Given the description of an element on the screen output the (x, y) to click on. 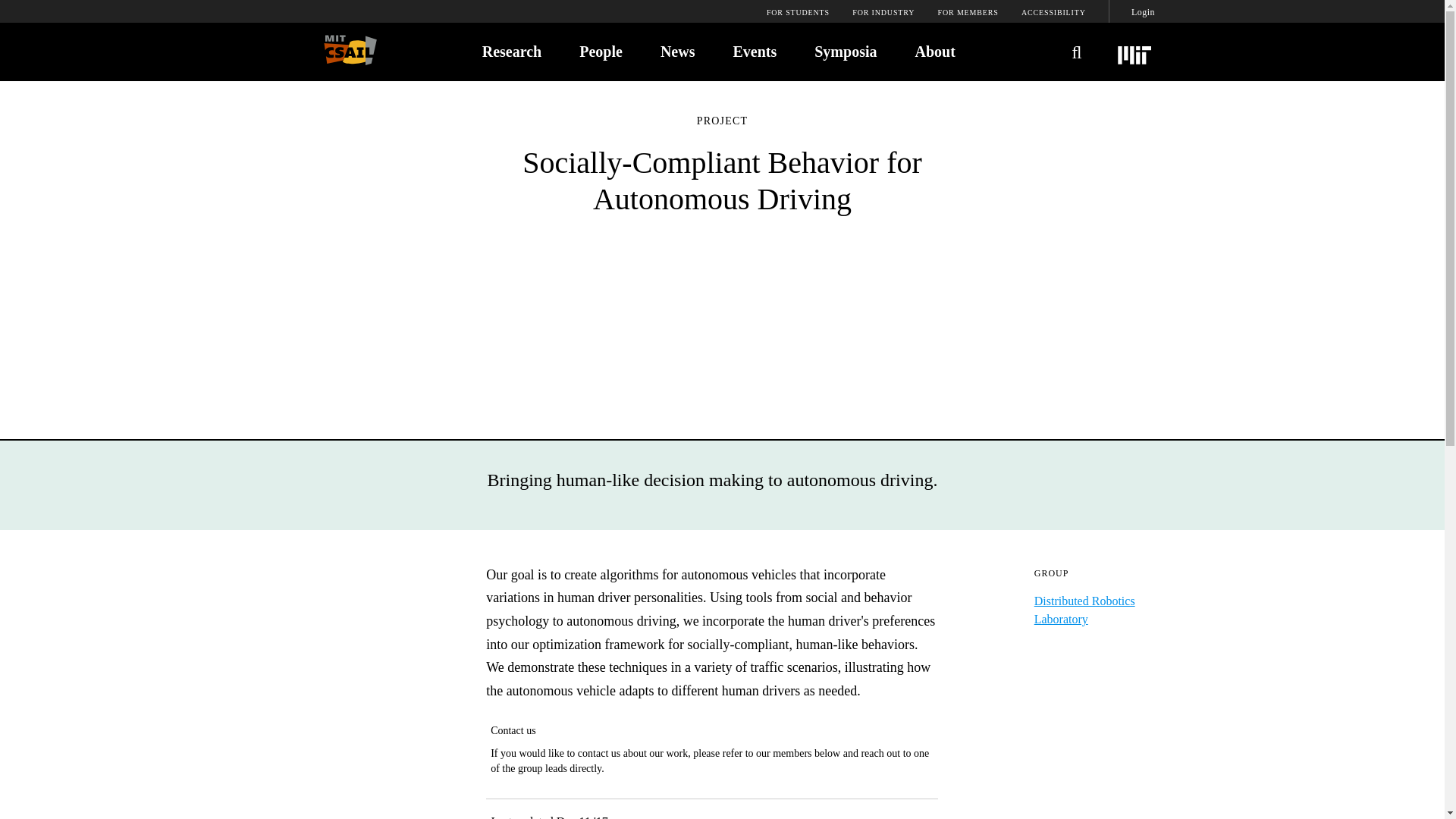
FOR STUDENTS (798, 12)
FOR INDUSTRY (882, 12)
Learn more about CSAIL (934, 50)
Events (754, 50)
Distributed Robotics Laboratory (1084, 609)
ACCESSIBILITY (1054, 12)
Login (1142, 11)
CSAIL Articles Videos and Talks (678, 50)
Research (511, 50)
